Given the description of an element on the screen output the (x, y) to click on. 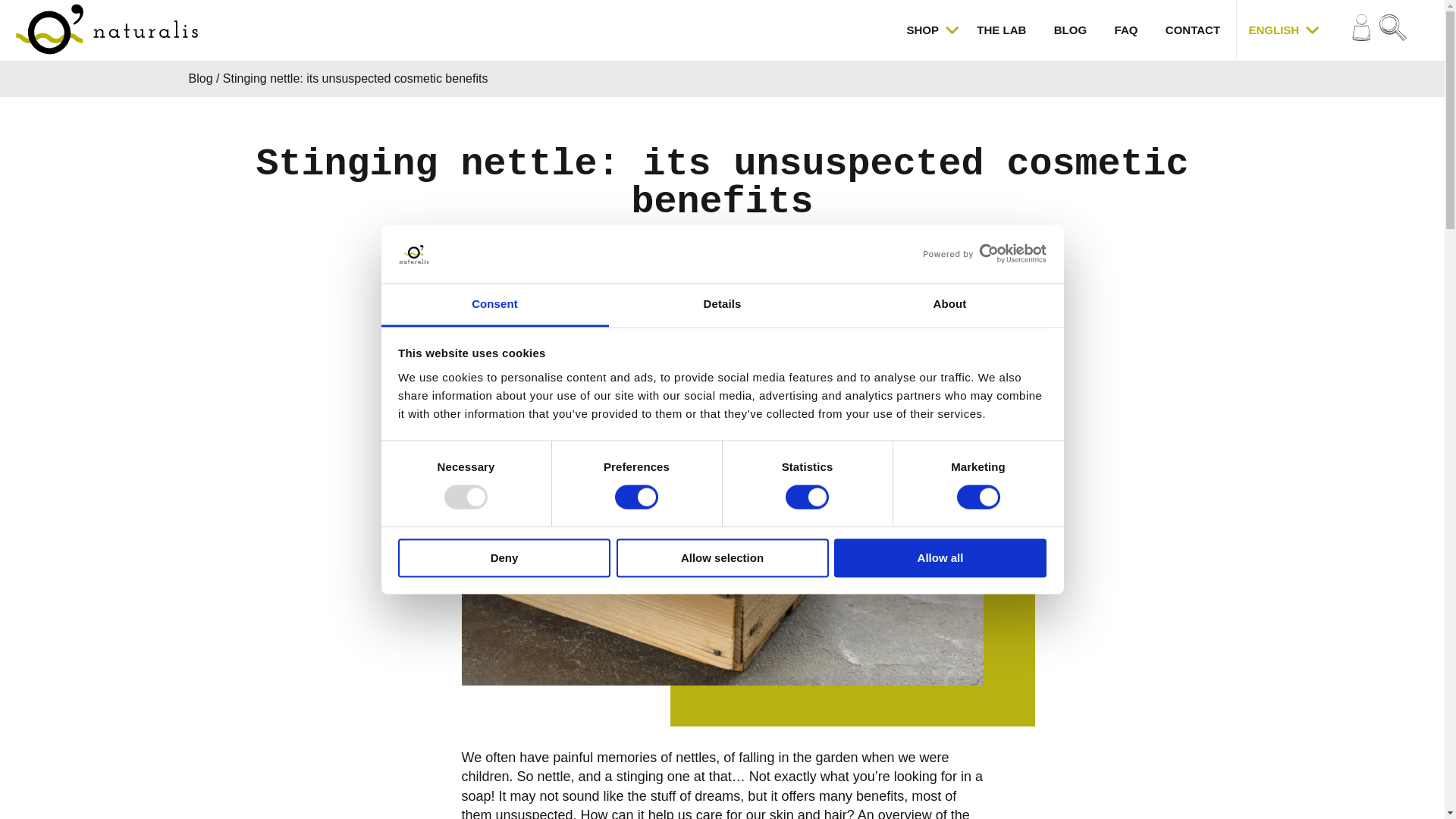
About (948, 304)
English (1269, 29)
O'Naturalis - Organic and natural soaps and cosmetics - Logo (106, 29)
Details (721, 304)
O'Naturalis (106, 30)
Consent (494, 304)
